Given the description of an element on the screen output the (x, y) to click on. 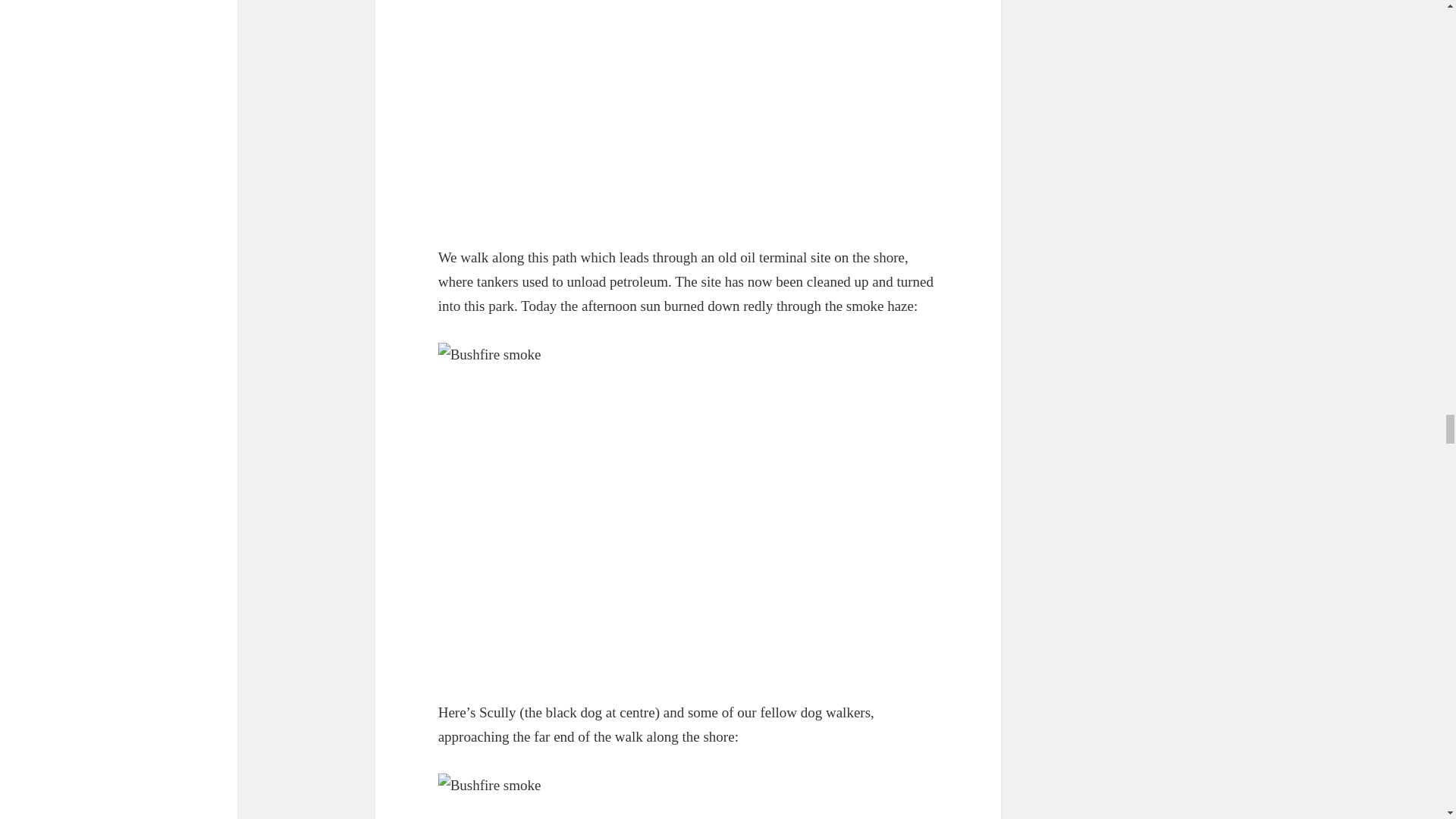
Bushfire smoke (688, 110)
Bushfire smoke (688, 796)
